Given the description of an element on the screen output the (x, y) to click on. 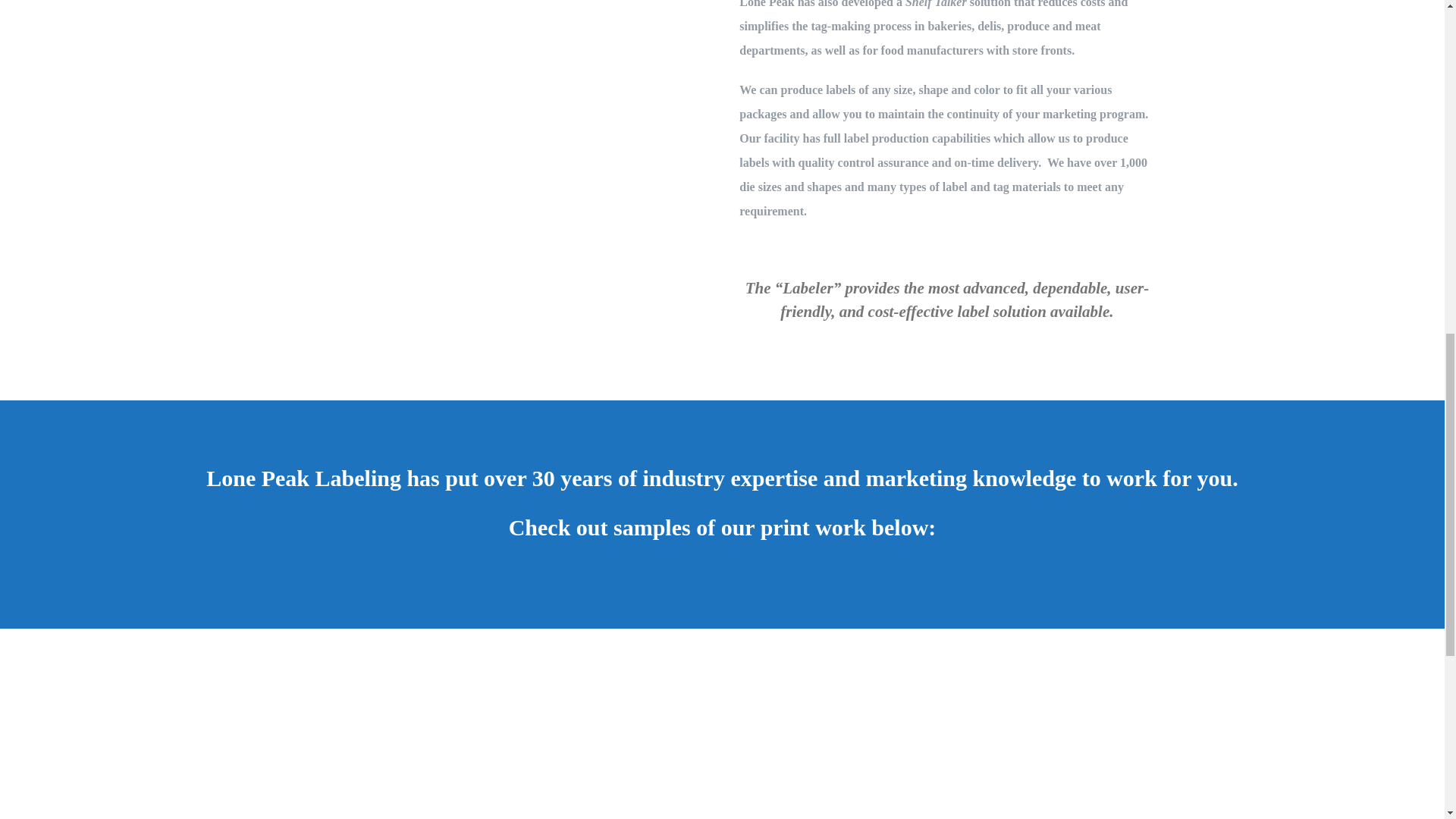
product-placeholder (1058, 742)
product-placeholder (834, 742)
product-placeholder (609, 742)
product-placeholder (384, 742)
